Given the description of an element on the screen output the (x, y) to click on. 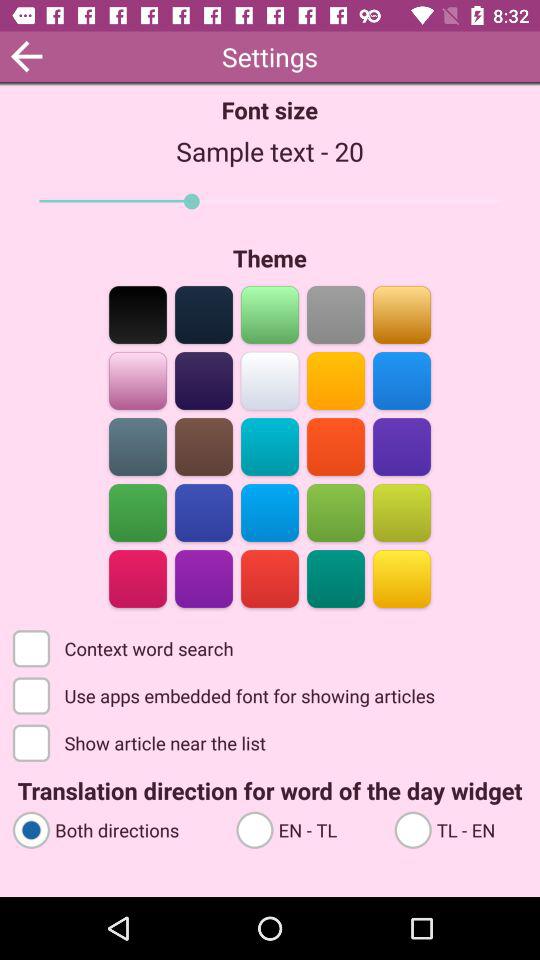
rerurn to previous menu (26, 56)
